Given the description of an element on the screen output the (x, y) to click on. 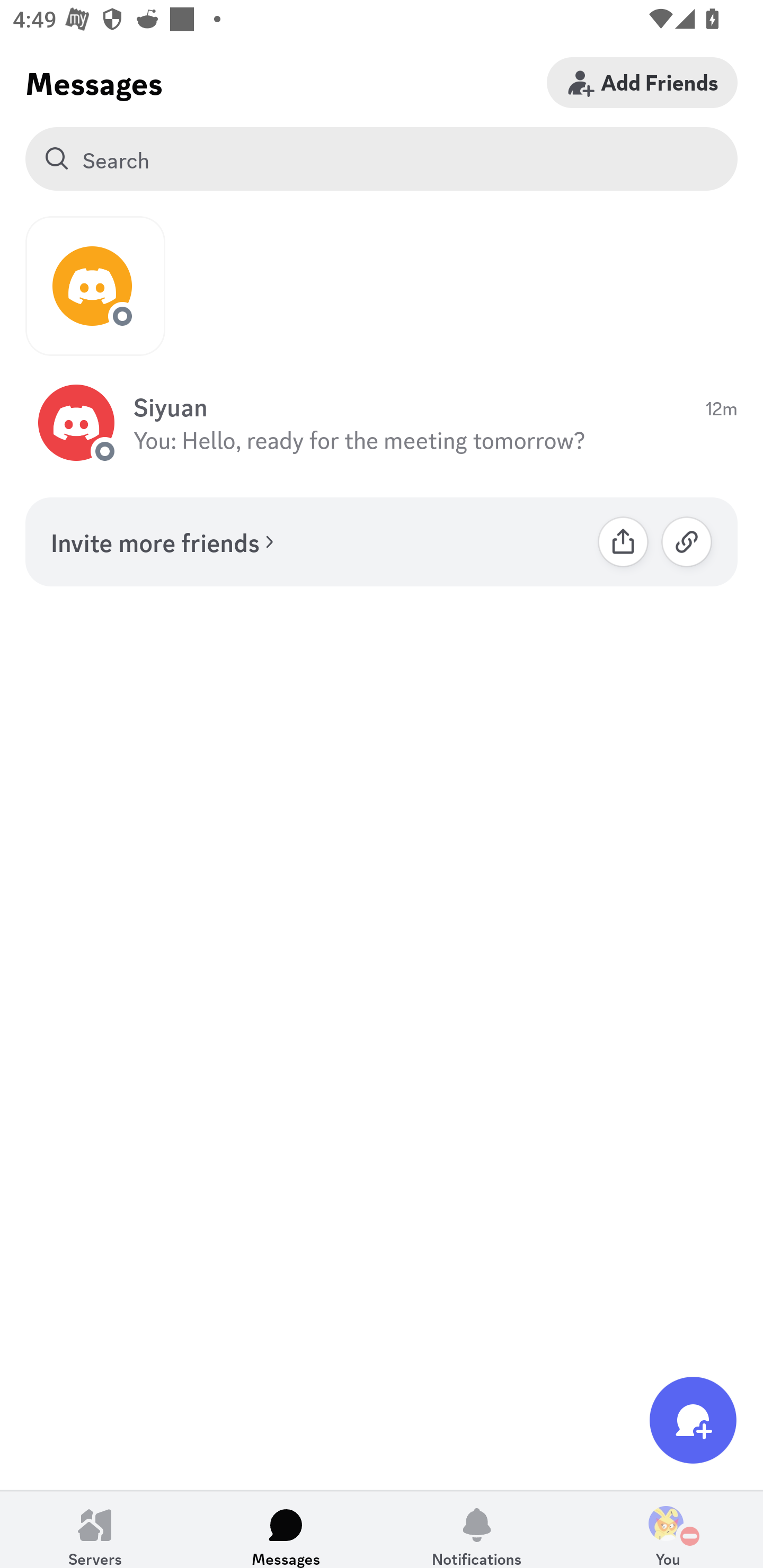
Add Friends (642, 82)
Search (381, 159)
Sean,  (95, 285)
Share Link (622, 541)
Copy Link (686, 541)
New Message (692, 1419)
Servers (95, 1529)
Messages (285, 1529)
Notifications (476, 1529)
You (667, 1529)
